Given the description of an element on the screen output the (x, y) to click on. 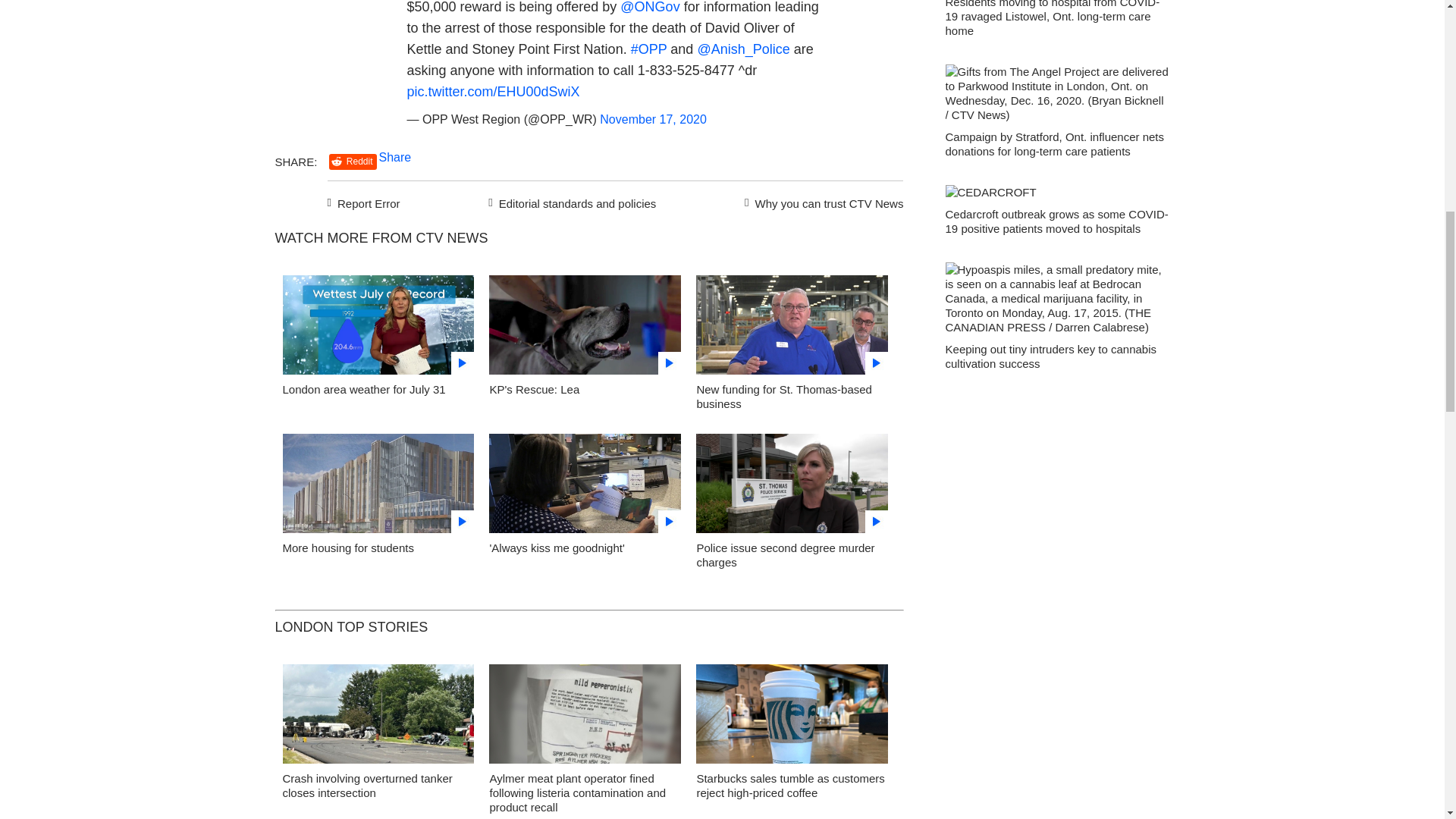
false (378, 324)
Why you can trust CTV News (820, 201)
false (585, 483)
November 17, 2020 (652, 119)
Starbucks profits take a tumble (791, 718)
Police issue second degree murder charges (785, 554)
'Always kiss me goodnight' (585, 487)
false (585, 324)
More housing for students (347, 547)
Mild Pepperonistix (585, 718)
